Given the description of an element on the screen output the (x, y) to click on. 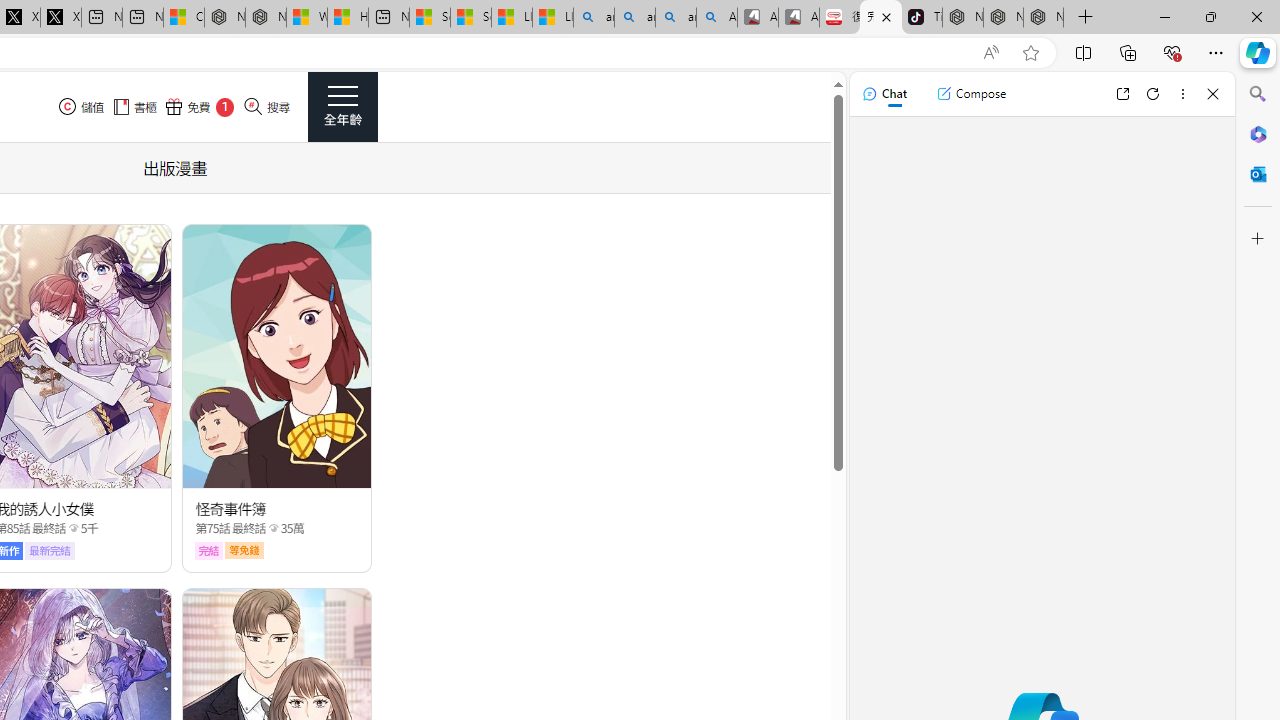
Amazon Echo Robot - Search Images (717, 17)
